Given the description of an element on the screen output the (x, y) to click on. 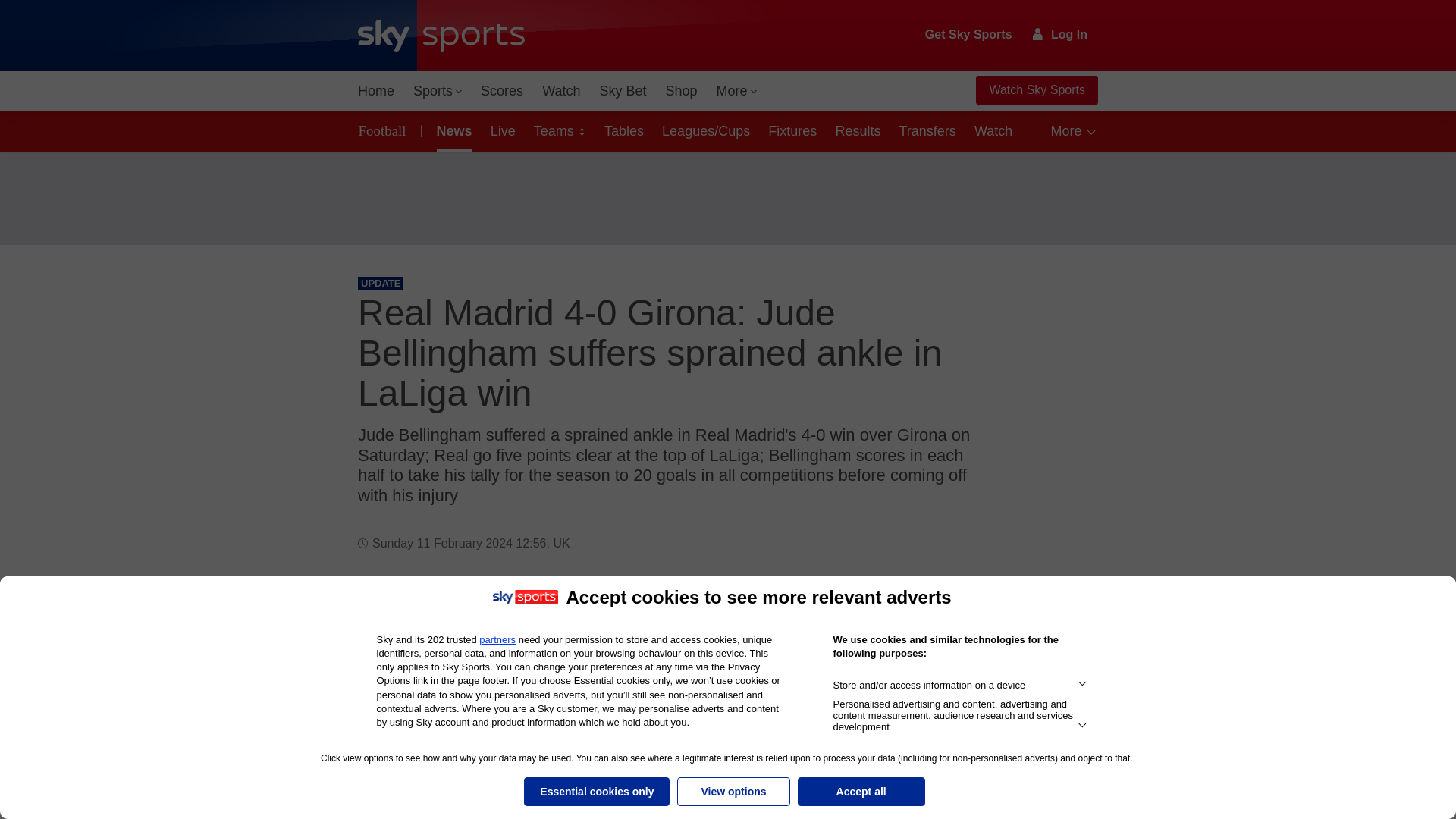
Log In (1060, 33)
Watch Sky Sports (1036, 90)
Sky Bet (622, 91)
Shop (681, 91)
Watch (561, 91)
Sports (437, 91)
News (451, 130)
Football (385, 130)
More (736, 91)
Get Sky Sports (968, 34)
